Given the description of an element on the screen output the (x, y) to click on. 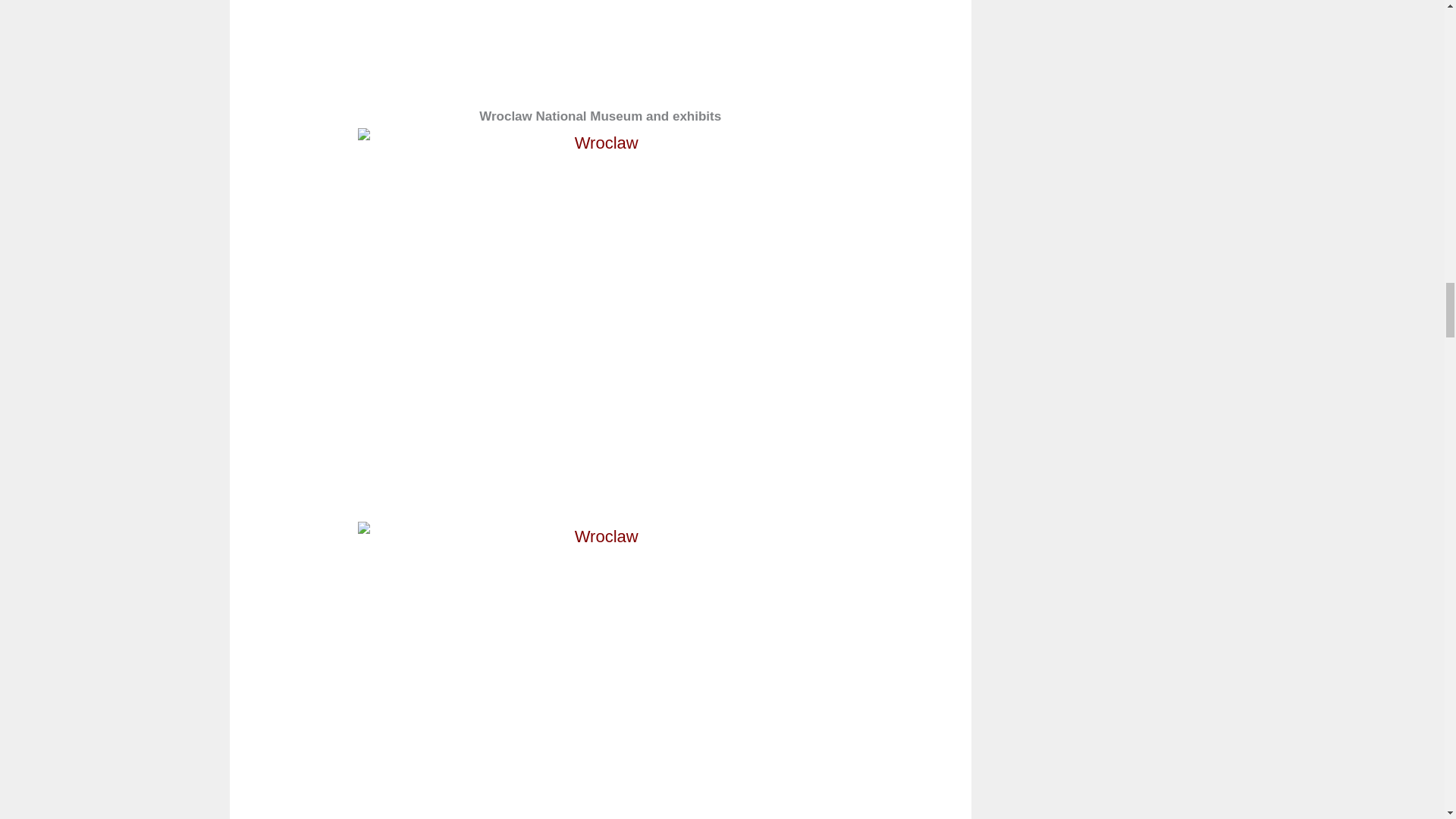
Wroclaw (600, 8)
